Given the description of an element on the screen output the (x, y) to click on. 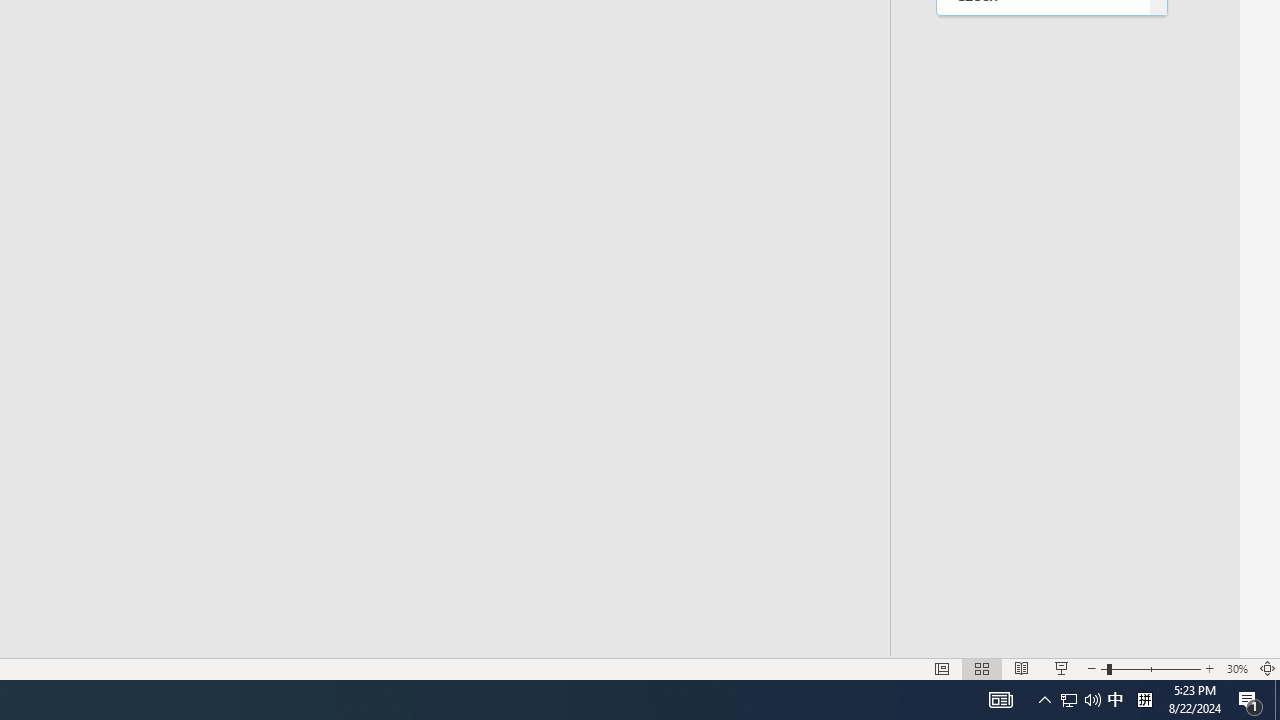
Estonian (1042, 279)
French (1042, 485)
Fijian (1042, 362)
Ganda (1042, 608)
English (1042, 238)
Galician (1042, 567)
Dutch (1042, 197)
Filipino (1042, 403)
Faroese (1042, 321)
Dogri (1042, 156)
